Given the description of an element on the screen output the (x, y) to click on. 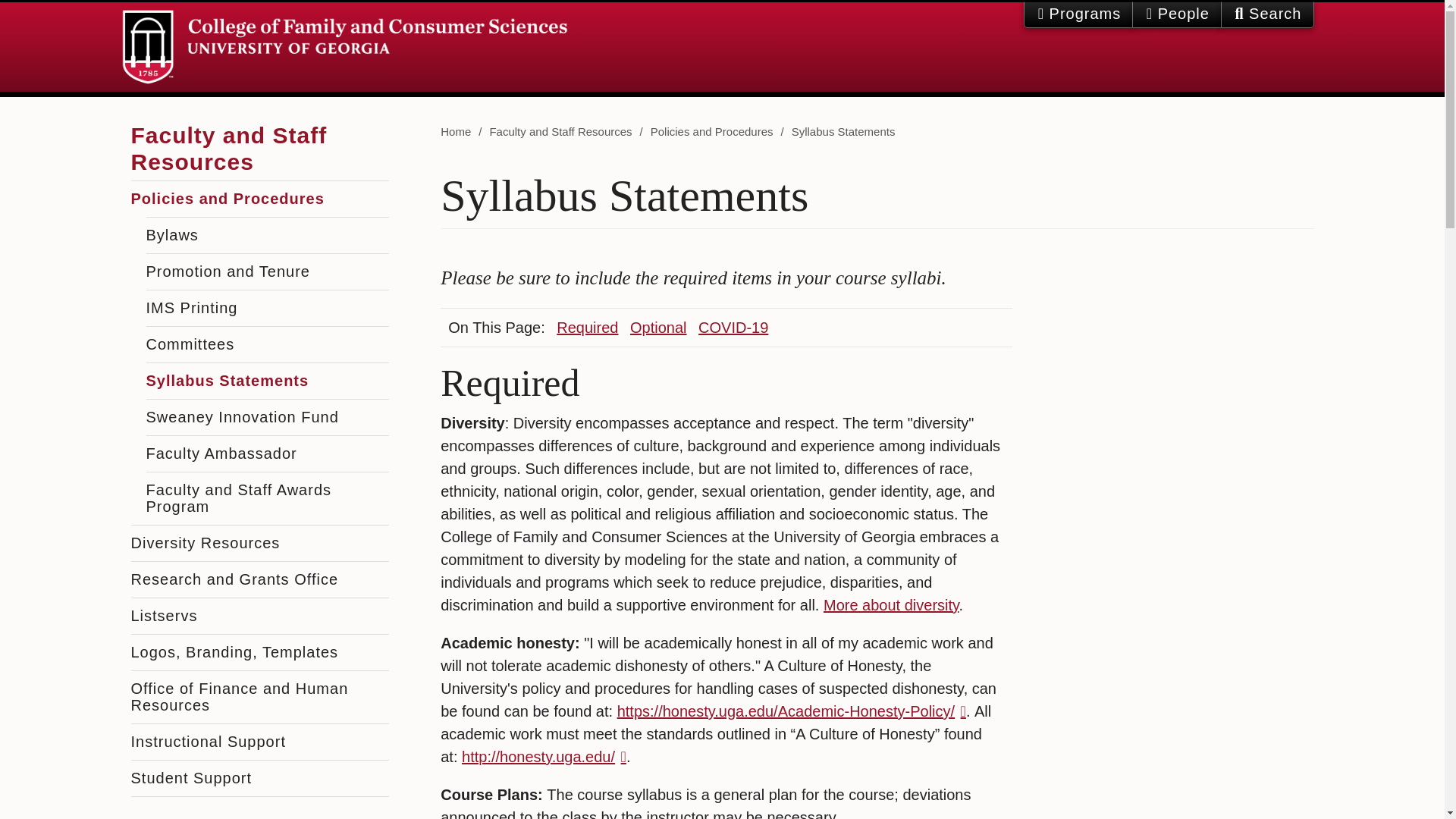
Listservs (259, 615)
Programs (1077, 14)
More about diversity (891, 605)
Committees (266, 344)
Faculty and Staff Resources (228, 143)
Diversity Resources (259, 543)
Policies and Procedures (259, 198)
UGA College of Family and Consumer Sciences Home Page (344, 46)
Logos, Branding, Templates (259, 652)
Required (586, 327)
